Given the description of an element on the screen output the (x, y) to click on. 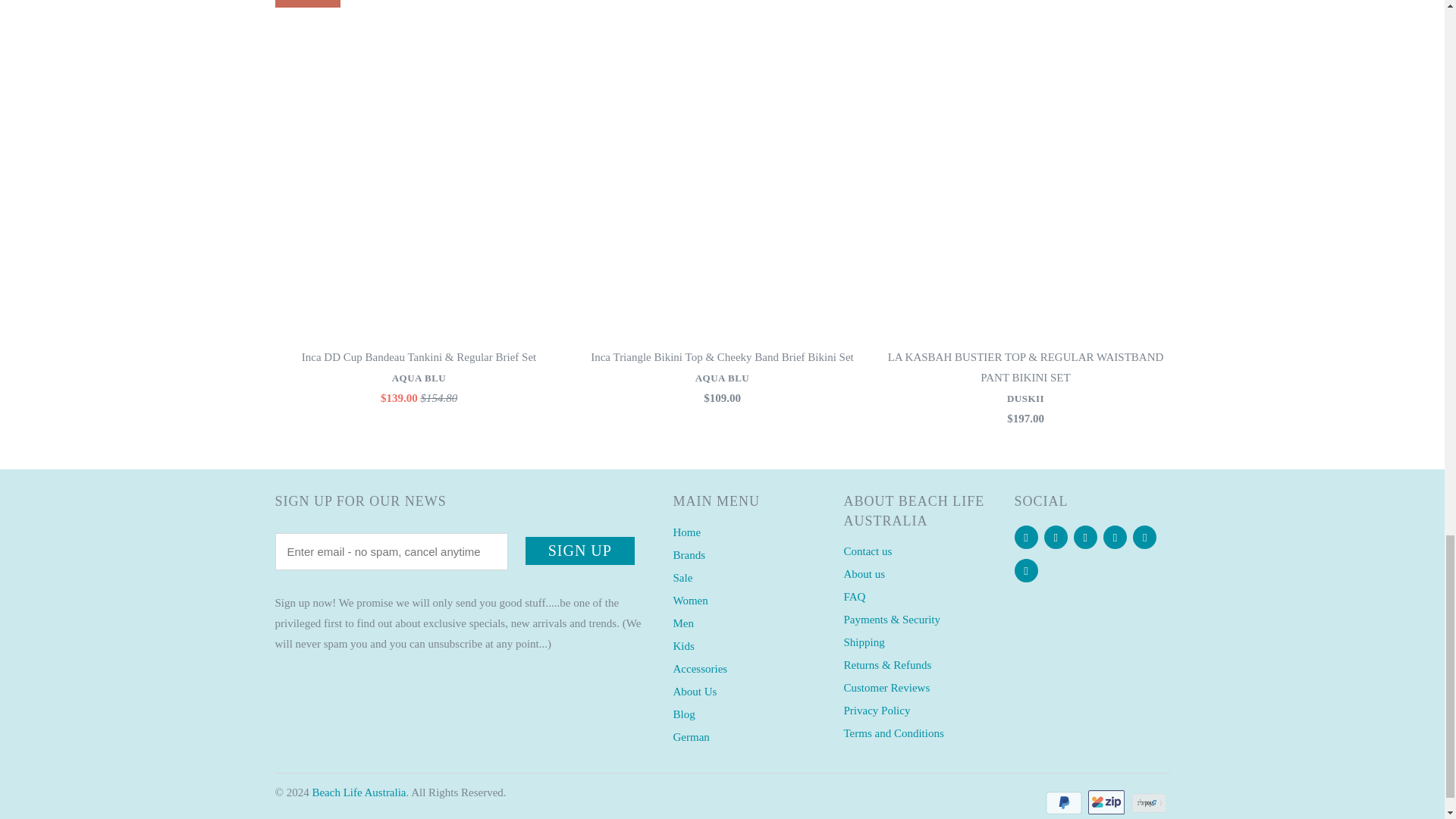
Sign Up (579, 551)
